Given the description of an element on the screen output the (x, y) to click on. 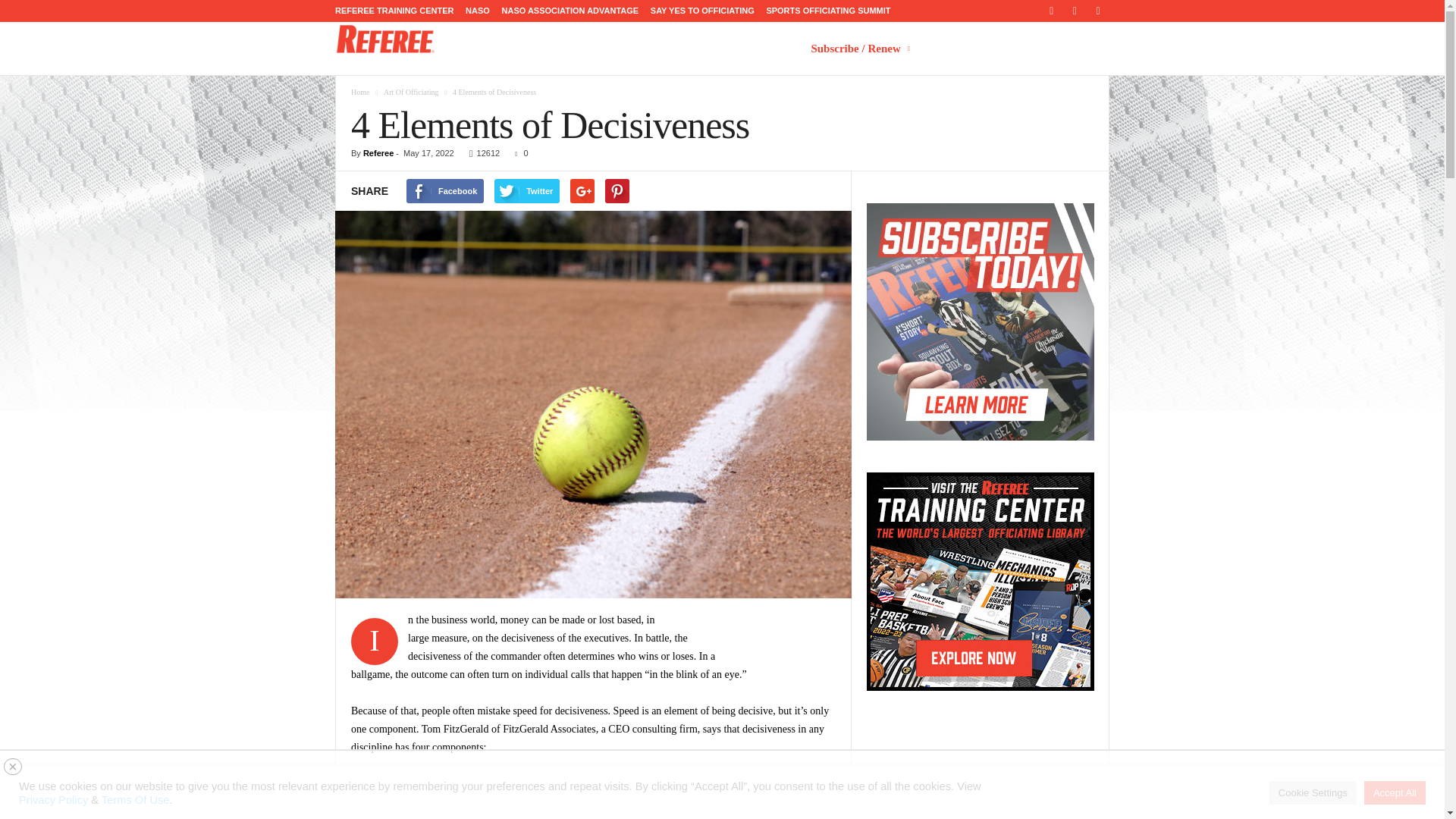
View all posts in Art Of Officiating (411, 91)
Referee (384, 38)
